Given the description of an element on the screen output the (x, y) to click on. 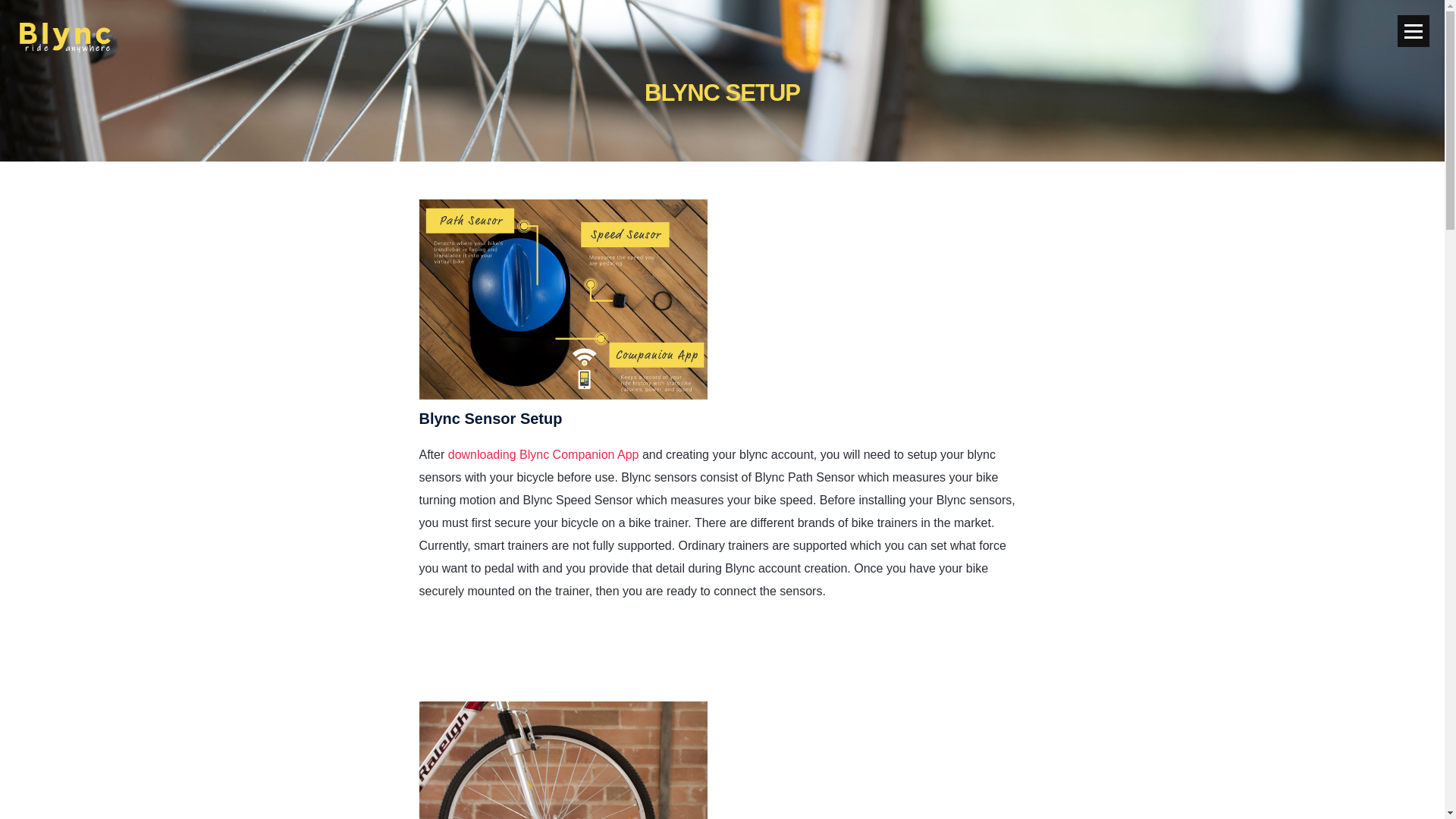
Menu (1413, 30)
Blync (65, 37)
downloading Blync Companion App (543, 648)
